Given the description of an element on the screen output the (x, y) to click on. 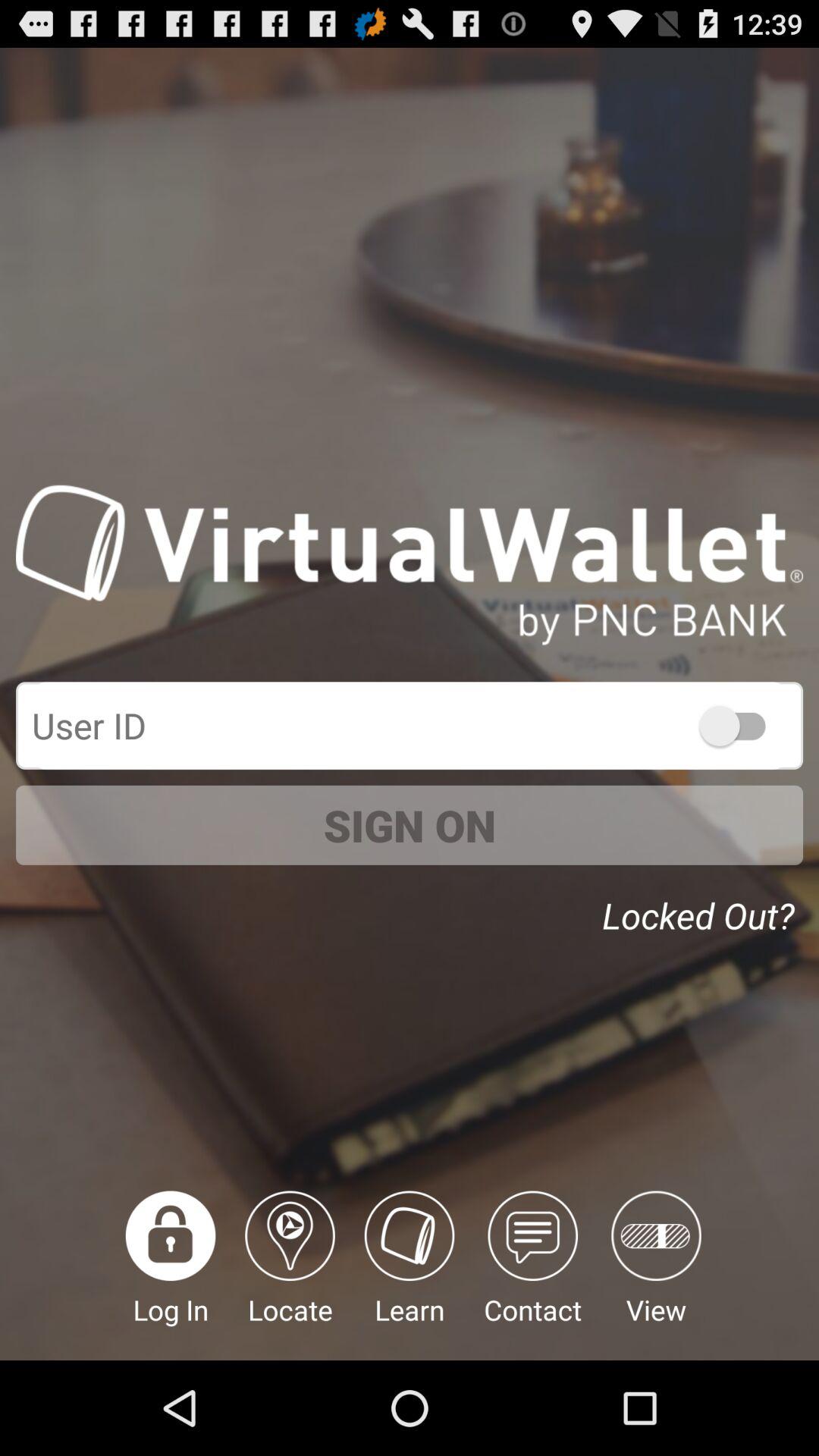
choose the icon to the left of contact item (409, 1275)
